Given the description of an element on the screen output the (x, y) to click on. 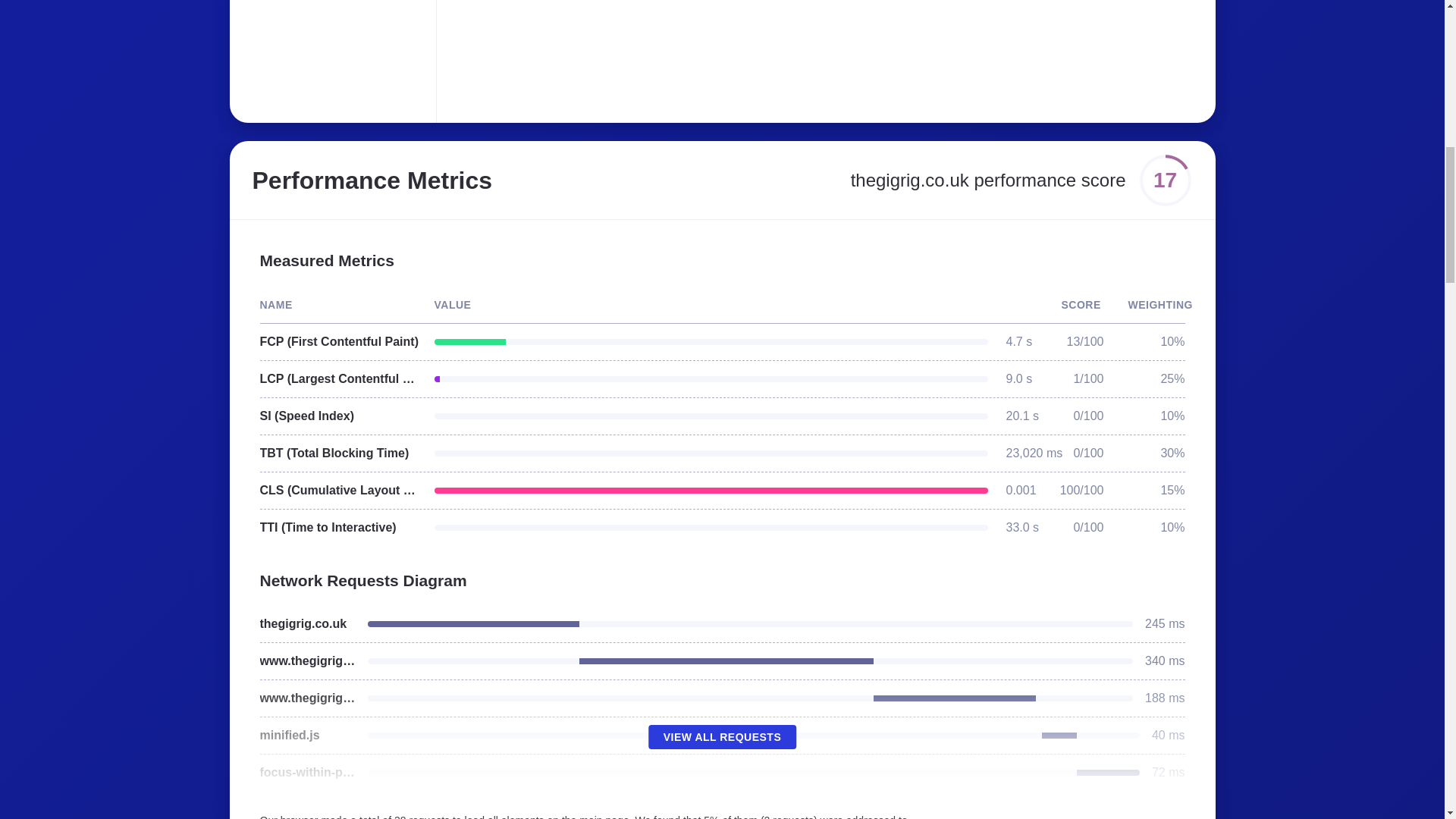
VIEW ALL REQUESTS (721, 736)
